Given the description of an element on the screen output the (x, y) to click on. 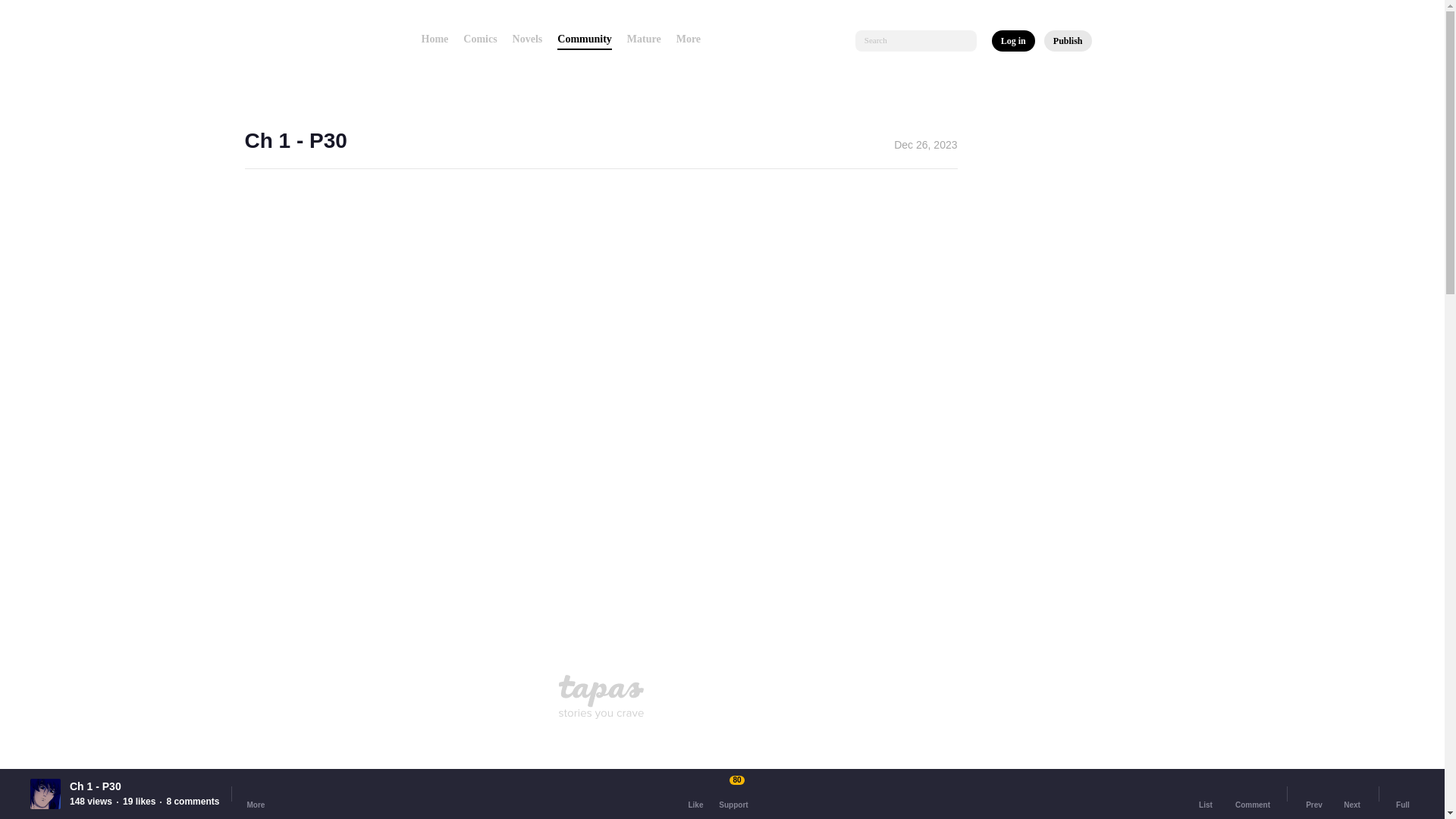
Mature (644, 38)
Log in (1013, 40)
Comics (479, 38)
Novels (527, 38)
Home (435, 38)
Community (584, 38)
Publish (1067, 40)
More (693, 38)
